Given the description of an element on the screen output the (x, y) to click on. 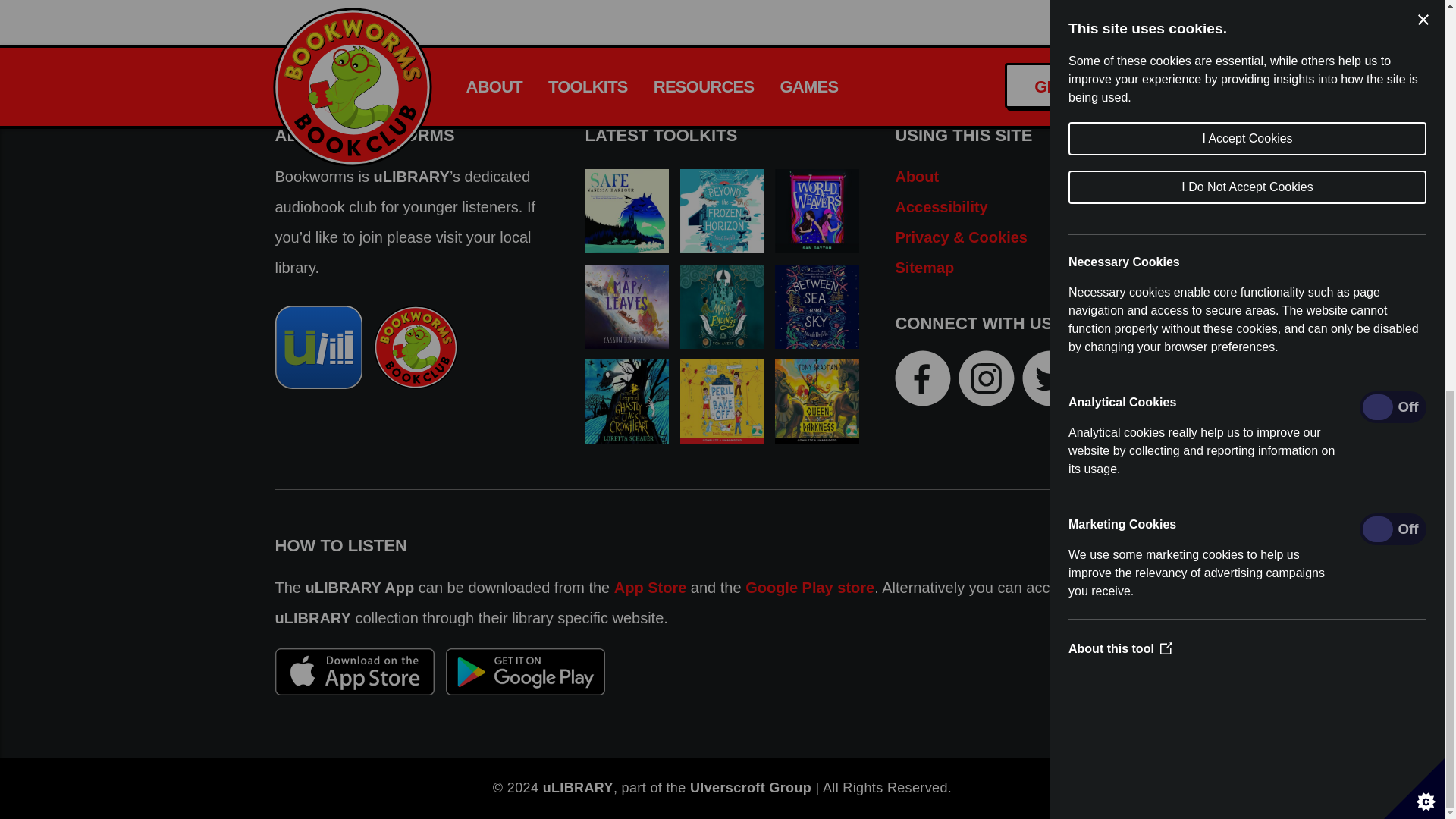
Accessibility (941, 206)
App Store (650, 587)
Google Play store (810, 587)
About (917, 176)
Sitemap (924, 267)
